Given the description of an element on the screen output the (x, y) to click on. 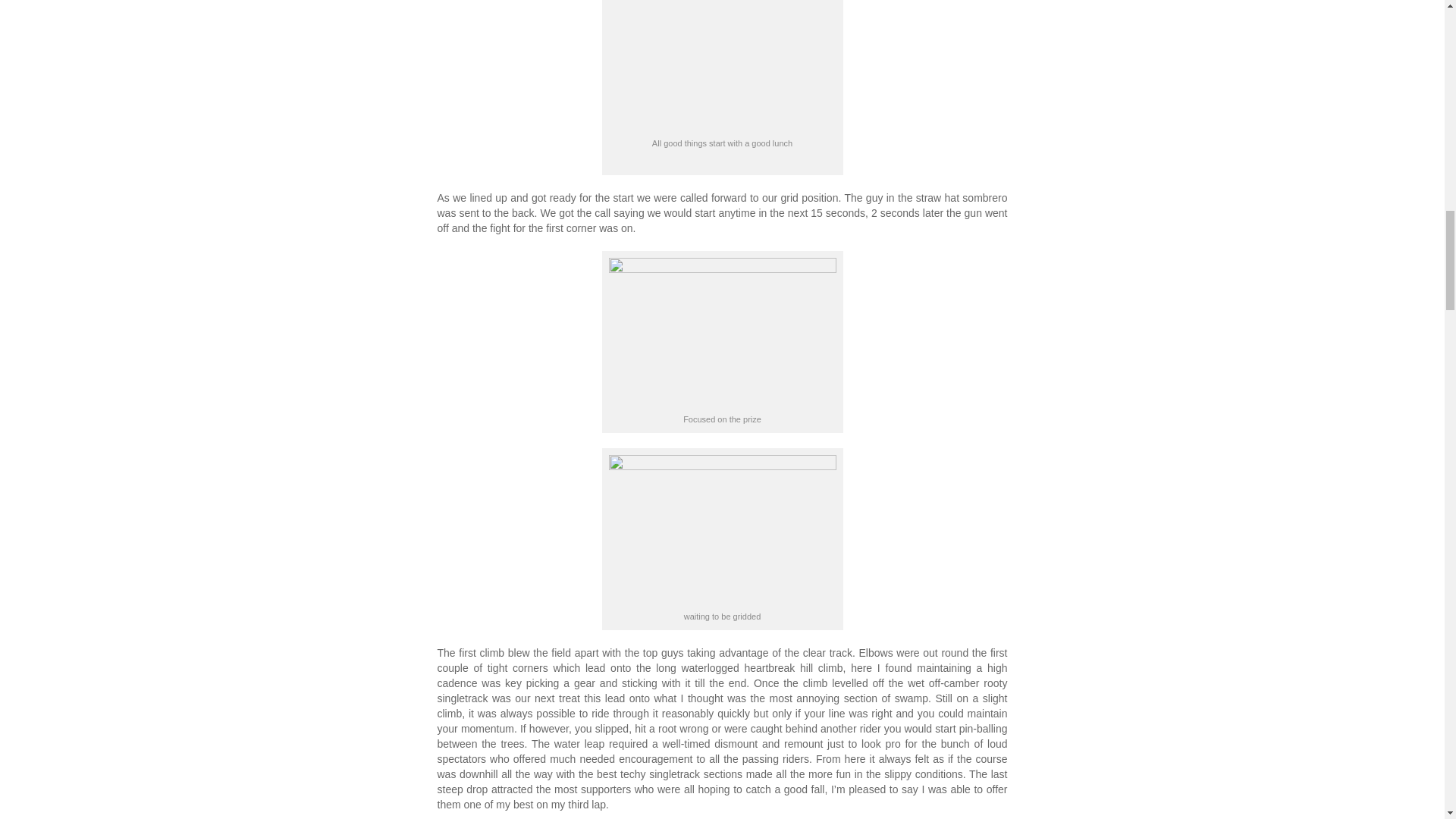
race face (721, 332)
Lunch (721, 66)
start (721, 530)
